Given the description of an element on the screen output the (x, y) to click on. 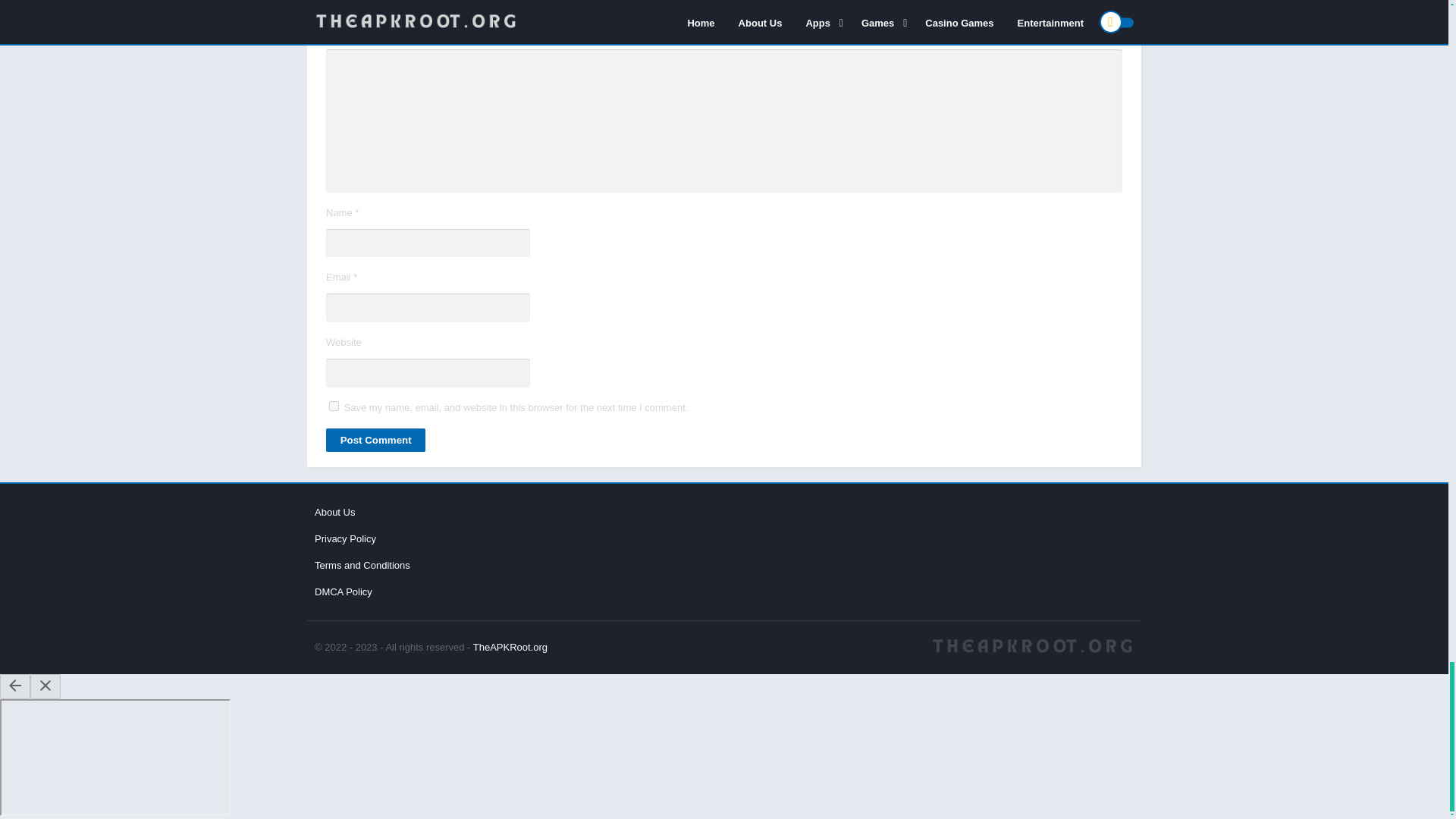
Post Comment (375, 440)
yes (334, 406)
